Given the description of an element on the screen output the (x, y) to click on. 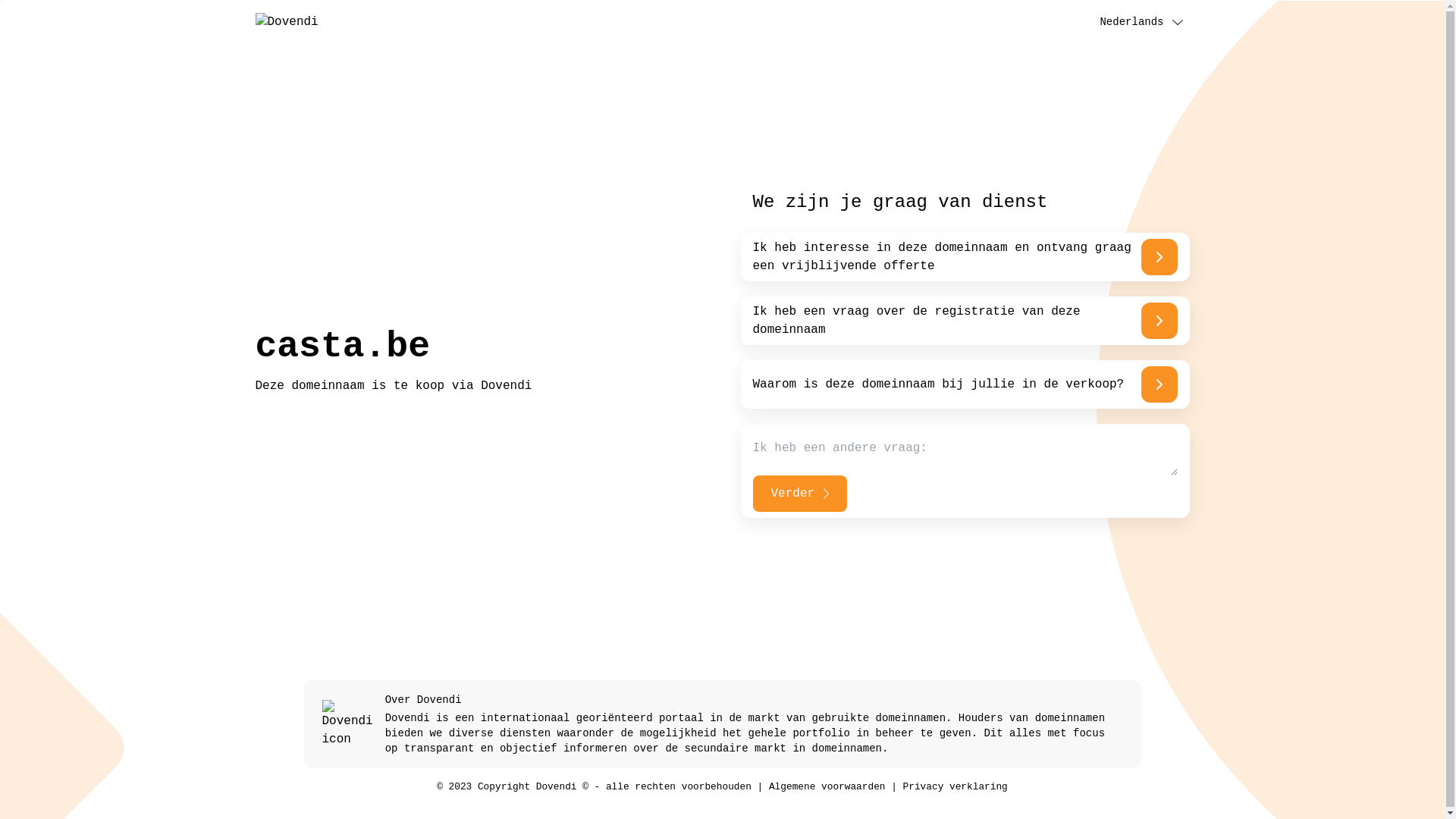
Algemene voorwaarden Element type: text (826, 786)
Verder Element type: text (799, 493)
Privacy verklaring Element type: text (955, 786)
